Given the description of an element on the screen output the (x, y) to click on. 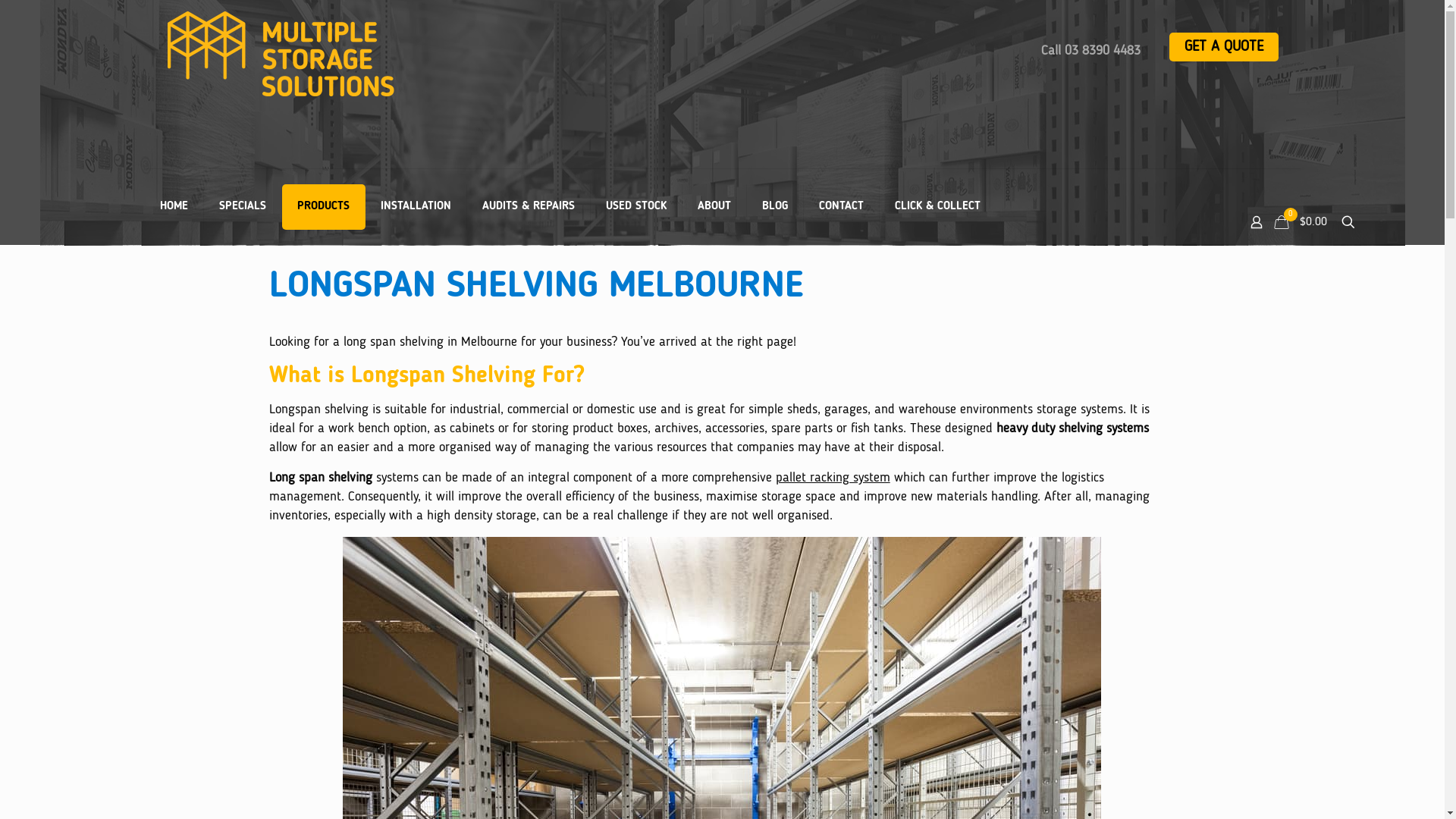
ABOUT Element type: text (714, 206)
BLOG Element type: text (774, 206)
AUDITS & REPAIRS Element type: text (528, 206)
CONTACT Element type: text (841, 206)
Multiple Storage Solutions Element type: hover (393, 53)
USED STOCK Element type: text (635, 206)
CLICK & COLLECT Element type: text (937, 206)
HOME Element type: text (173, 206)
PRODUCTS Element type: text (323, 206)
Call 03 8390 4483 Element type: text (1089, 50)
INSTALLATION Element type: text (416, 206)
SPECIALS Element type: text (242, 206)
GET A QUOTE Element type: text (1223, 46)
pallet racking system Element type: text (832, 477)
0
$0.00 Element type: text (1302, 221)
